Given the description of an element on the screen output the (x, y) to click on. 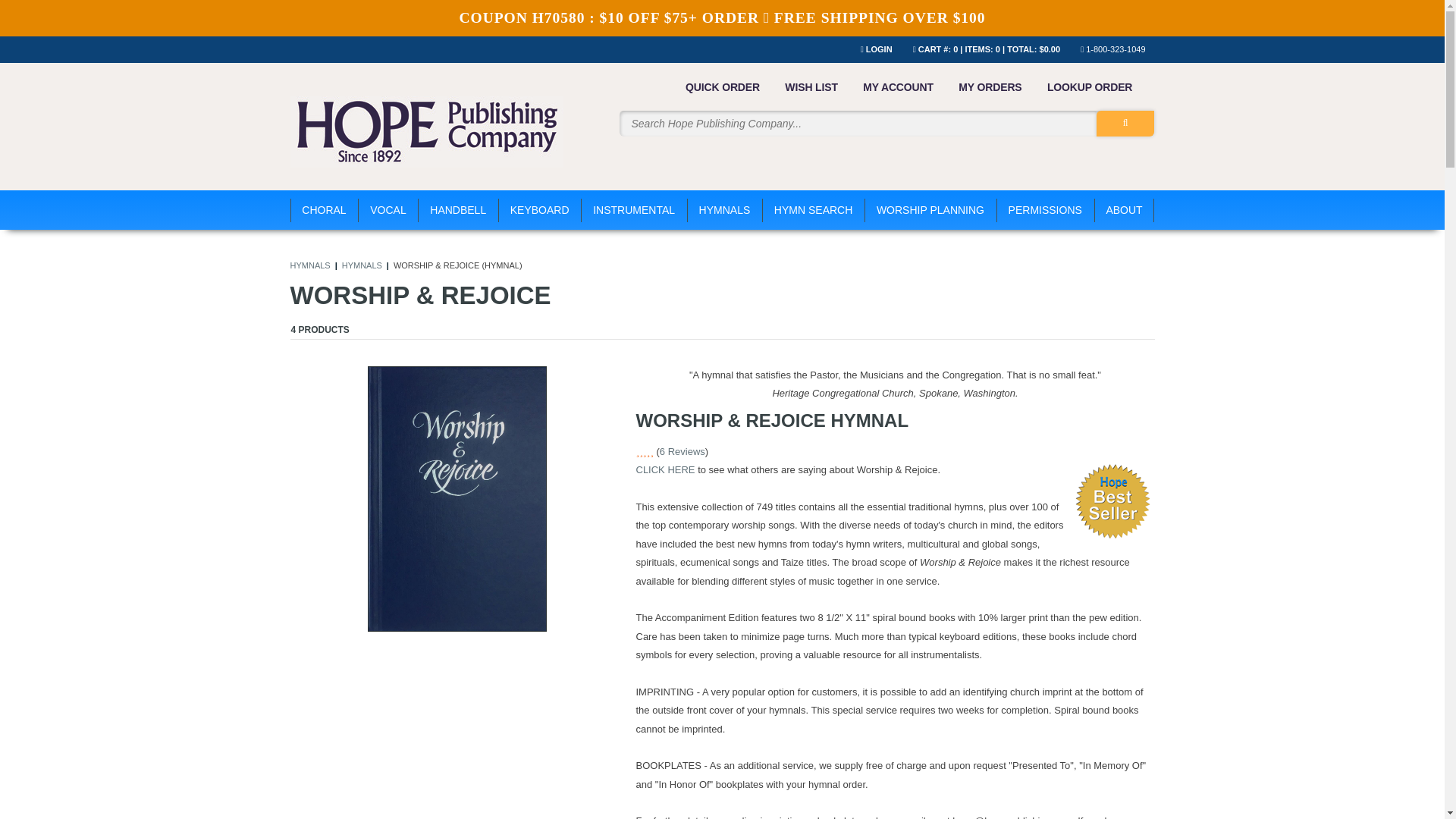
LOOKUP ORDER (1089, 86)
VOCAL (387, 210)
QUICK ORDER (722, 86)
MY ACCOUNT (898, 86)
MY ORDERS (990, 86)
LOGIN (883, 49)
CHORAL (323, 210)
WISH LIST (811, 86)
